Given the description of an element on the screen output the (x, y) to click on. 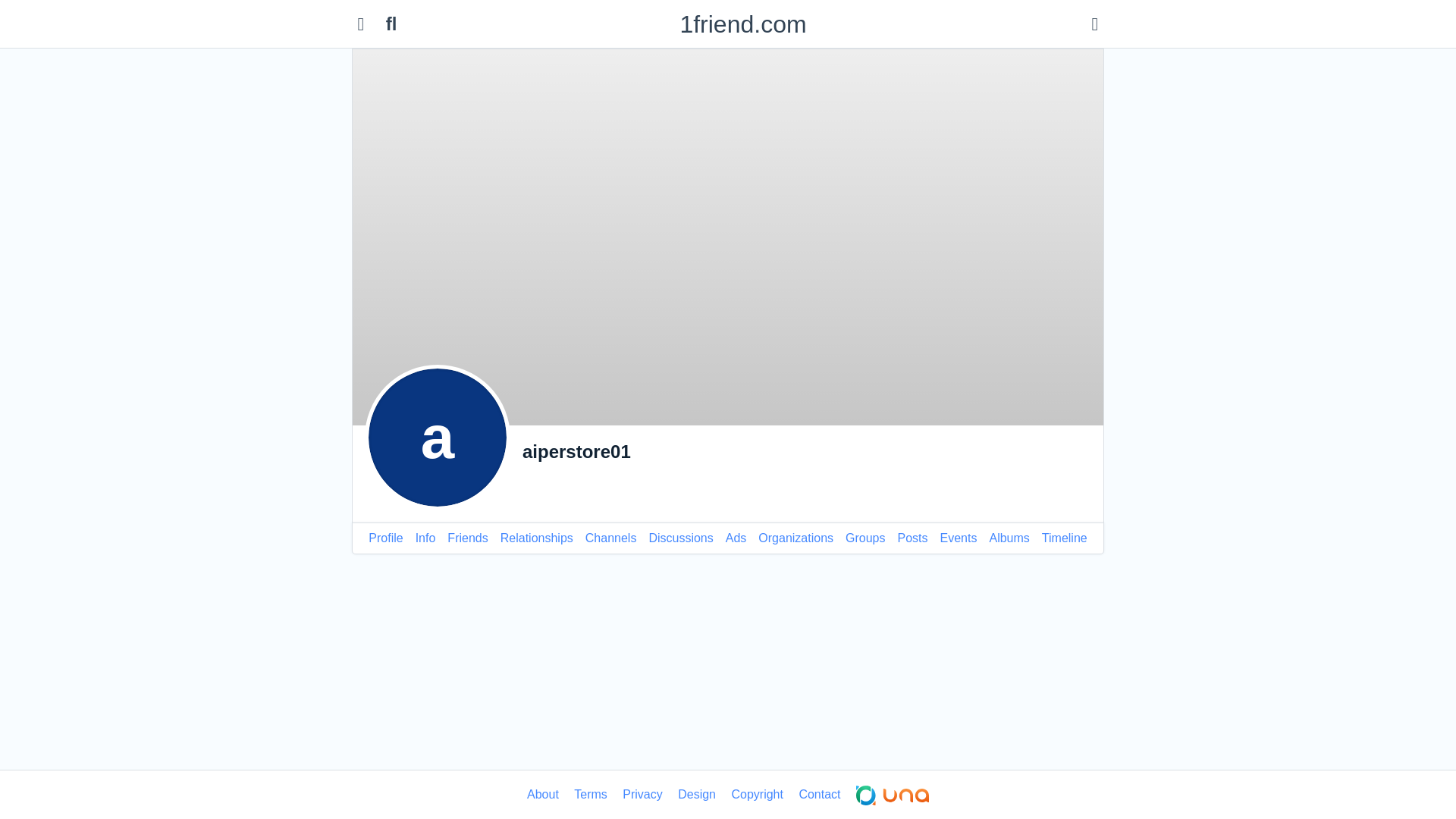
Timeline Element type: text (1064, 538)
Albums Element type: text (1008, 538)
Friends Element type: text (467, 538)
Discussions Element type: text (680, 538)
Organizations Element type: text (795, 538)
1friend.com Element type: text (742, 24)
Powered by UNA Community Management System Element type: hover (892, 795)
Groups Element type: text (864, 538)
Copyright Element type: text (756, 794)
a Element type: text (437, 437)
Ads Element type: text (735, 538)
About Element type: text (542, 794)
Relationships Element type: text (536, 538)
Profile Element type: text (385, 538)
Design Element type: text (696, 794)
Privacy Element type: text (642, 794)
Terms Element type: text (590, 794)
Powered by UNA Community Management System Element type: hover (892, 794)
Events Element type: text (958, 538)
Contact Element type: text (819, 794)
Posts Element type: text (912, 538)
Info Element type: text (425, 538)
Channels Element type: text (611, 538)
